Given the description of an element on the screen output the (x, y) to click on. 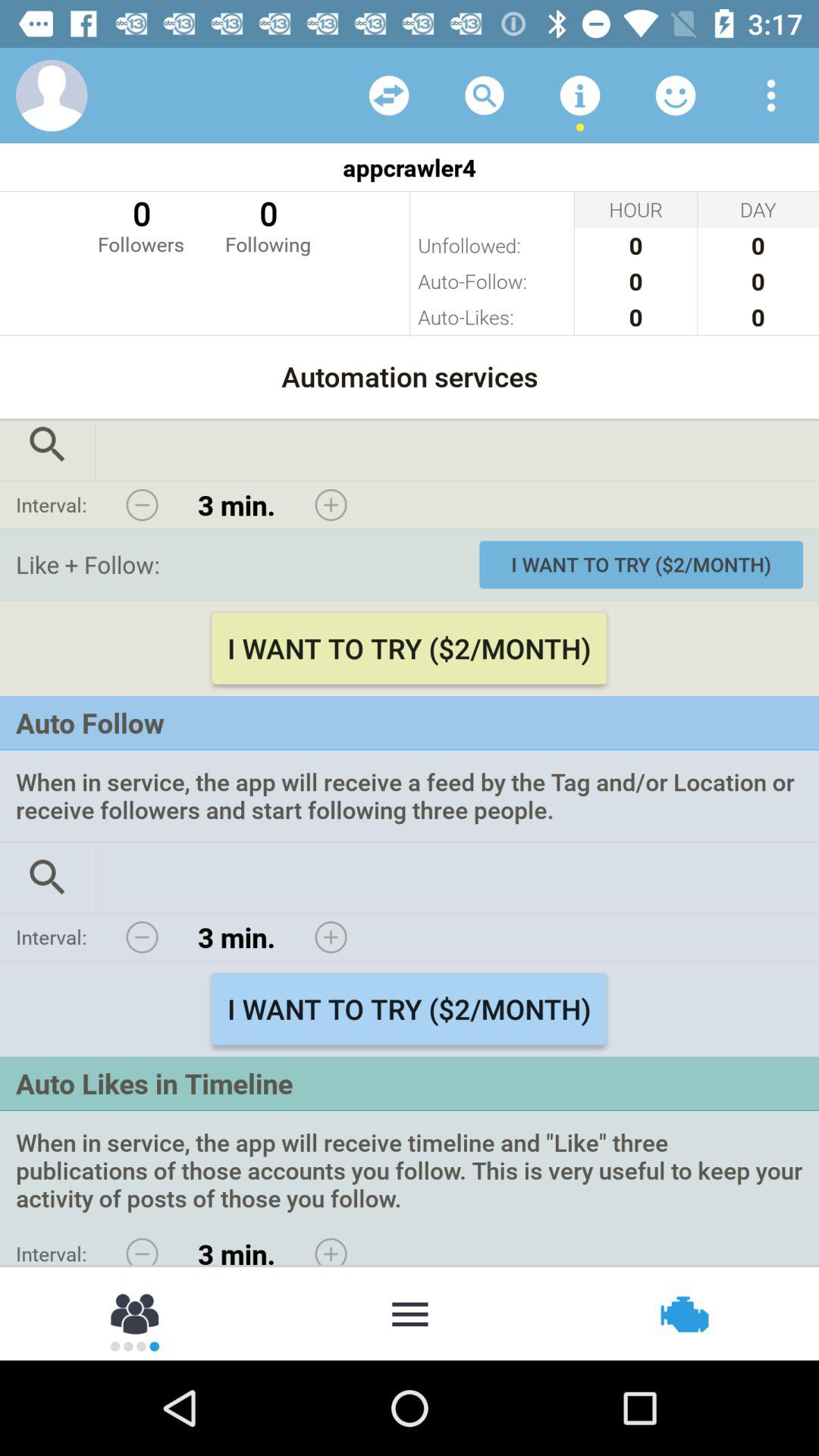
search (47, 877)
